Given the description of an element on the screen output the (x, y) to click on. 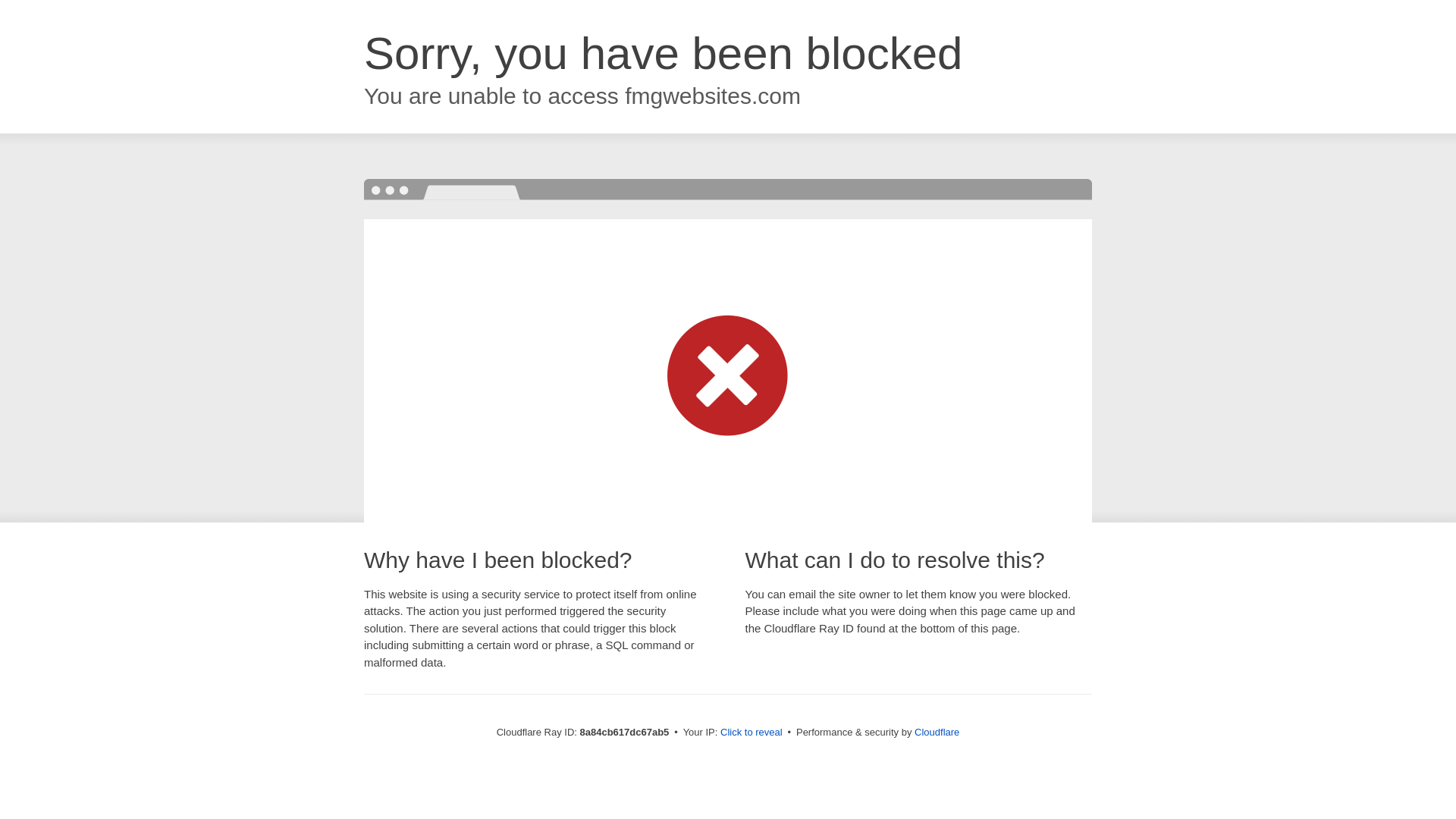
Click to reveal (751, 732)
Cloudflare (936, 731)
